Given the description of an element on the screen output the (x, y) to click on. 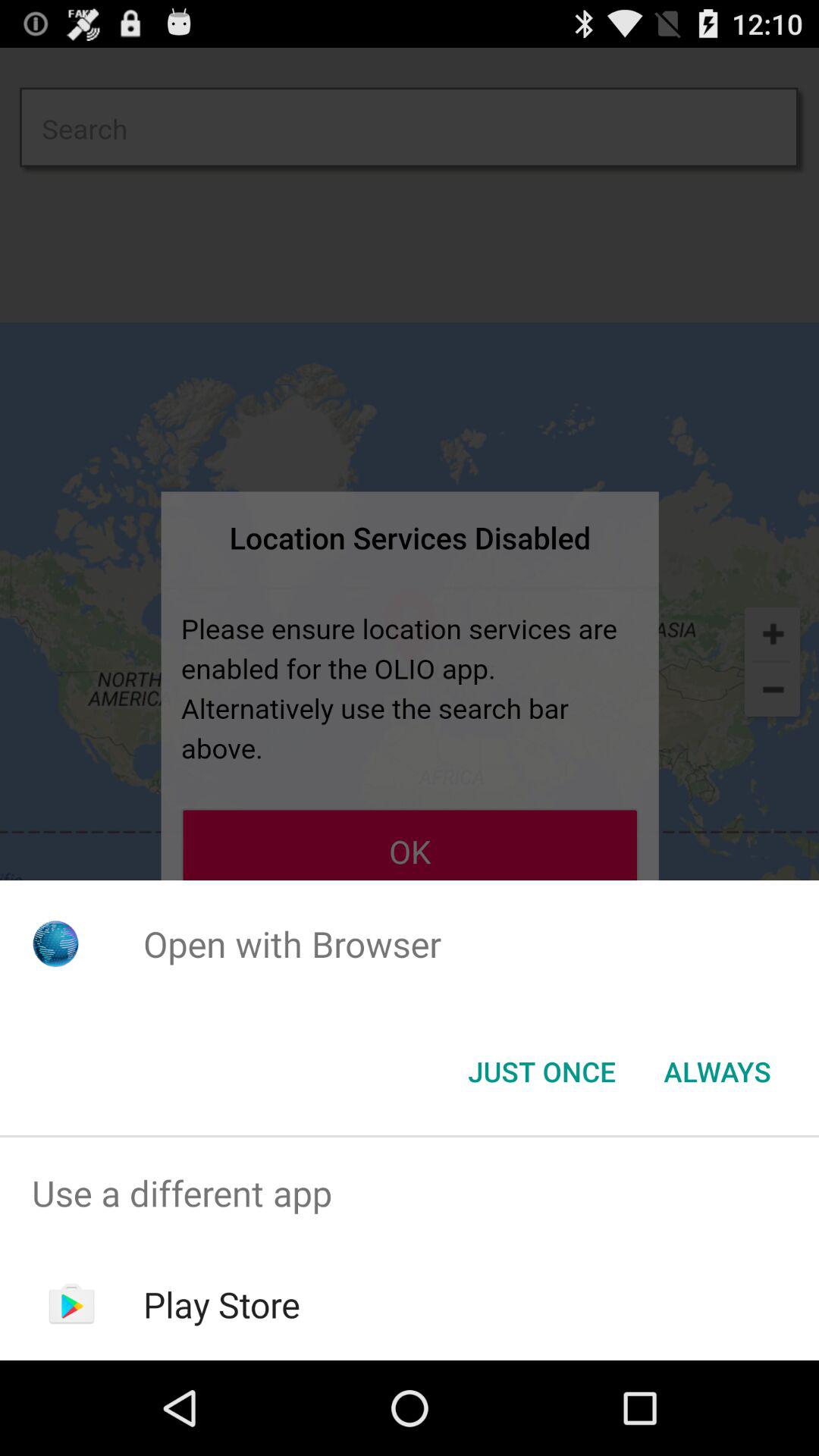
swipe until the just once button (541, 1071)
